Given the description of an element on the screen output the (x, y) to click on. 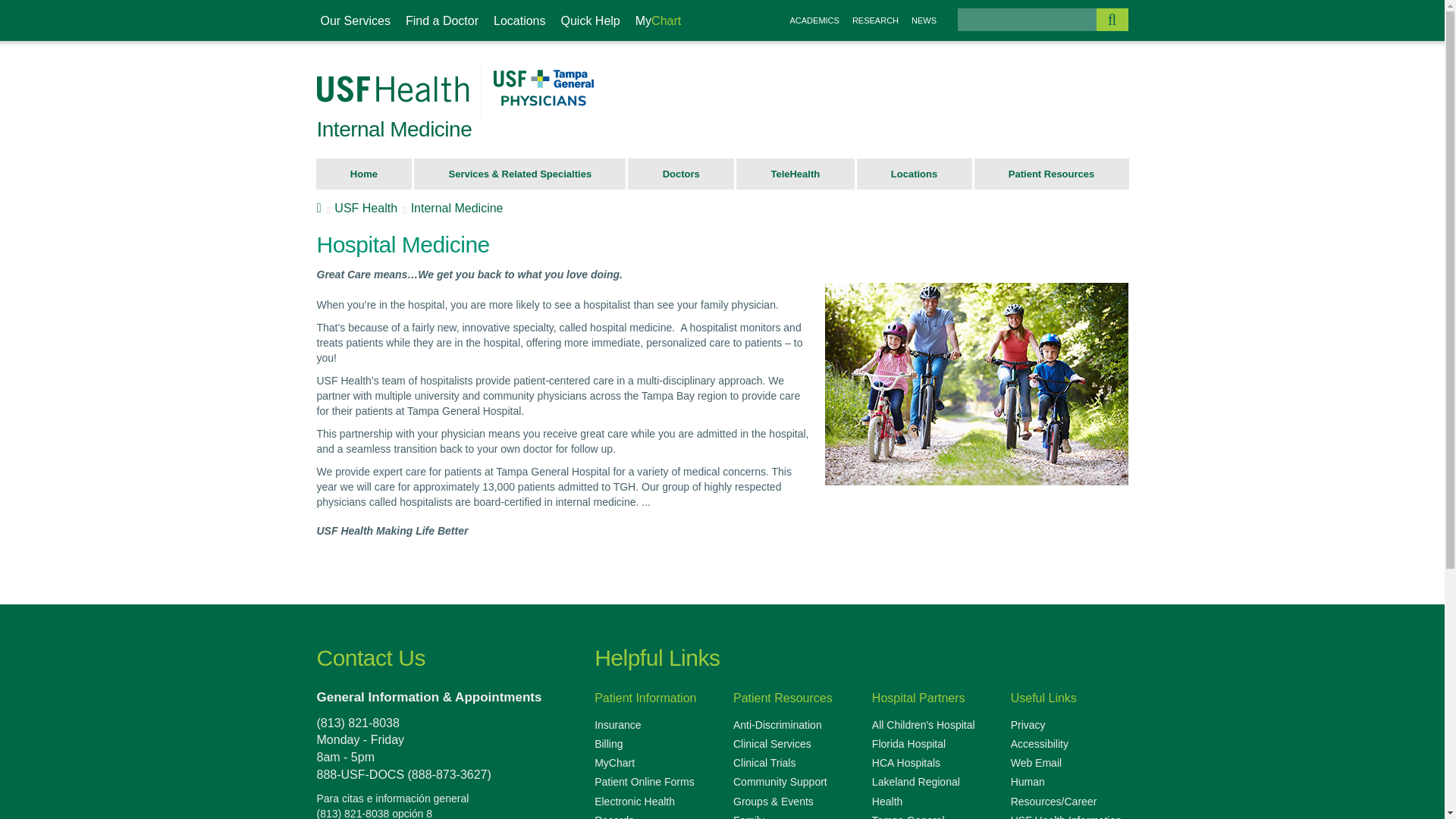
ACADEMICS (815, 20)
Our Services (355, 21)
MyChart (657, 21)
Locations (519, 21)
Home (363, 173)
RESEARCH (874, 20)
NEWS (923, 20)
Find a Doctor (441, 21)
Quick Help (590, 21)
